Given the description of an element on the screen output the (x, y) to click on. 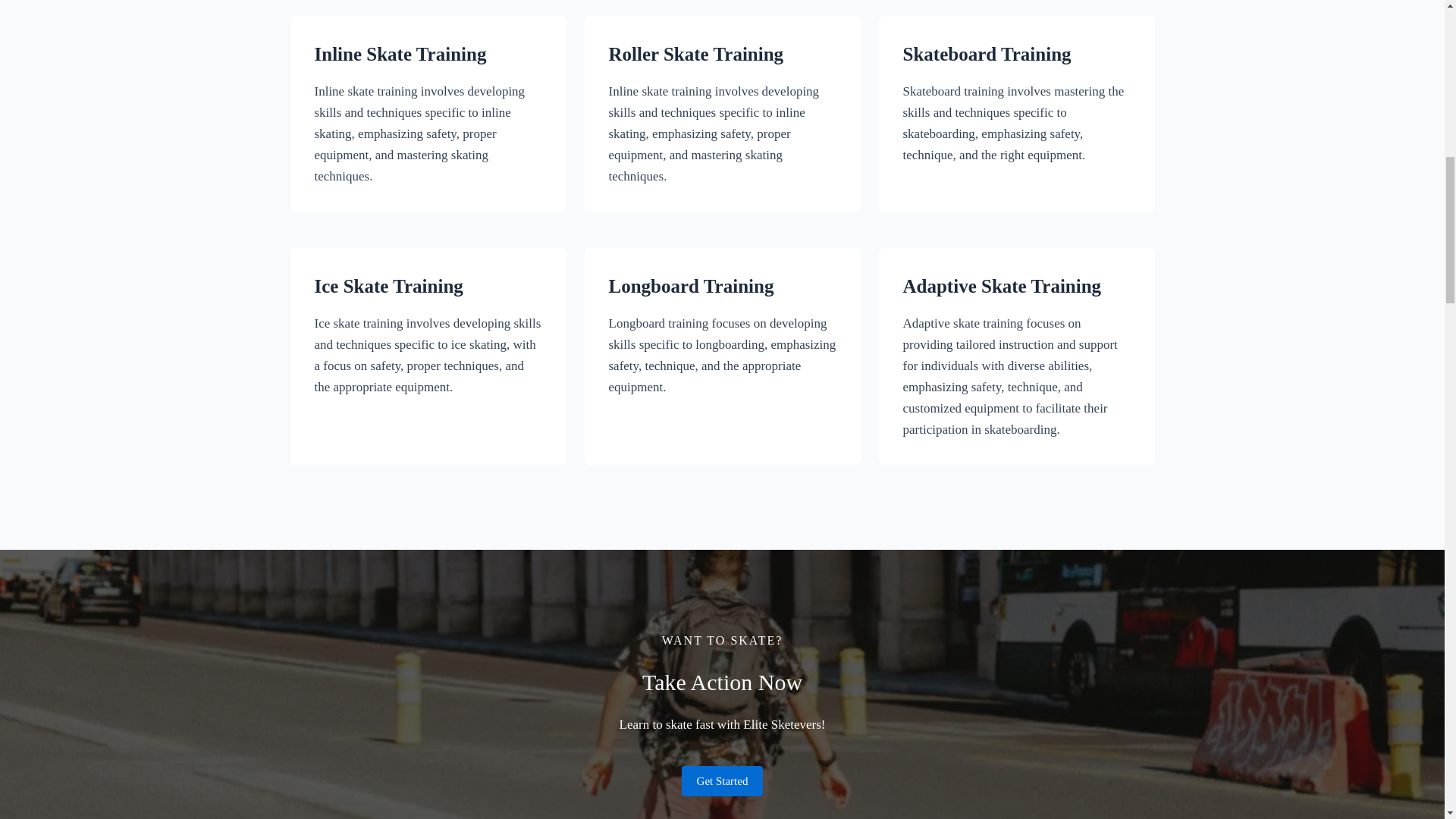
Get Started (721, 780)
